Given the description of an element on the screen output the (x, y) to click on. 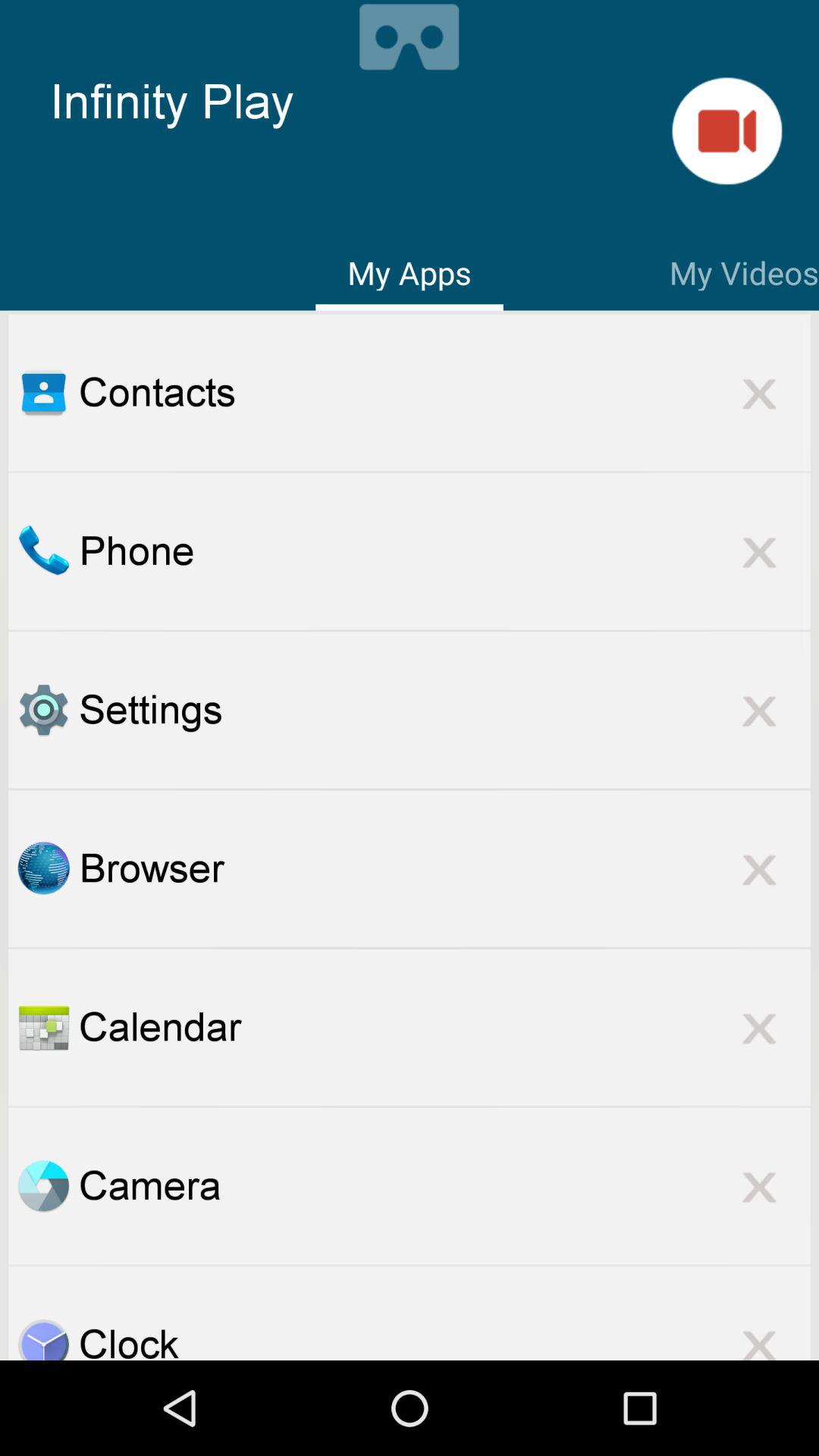
scroll to camera item (444, 1185)
